Given the description of an element on the screen output the (x, y) to click on. 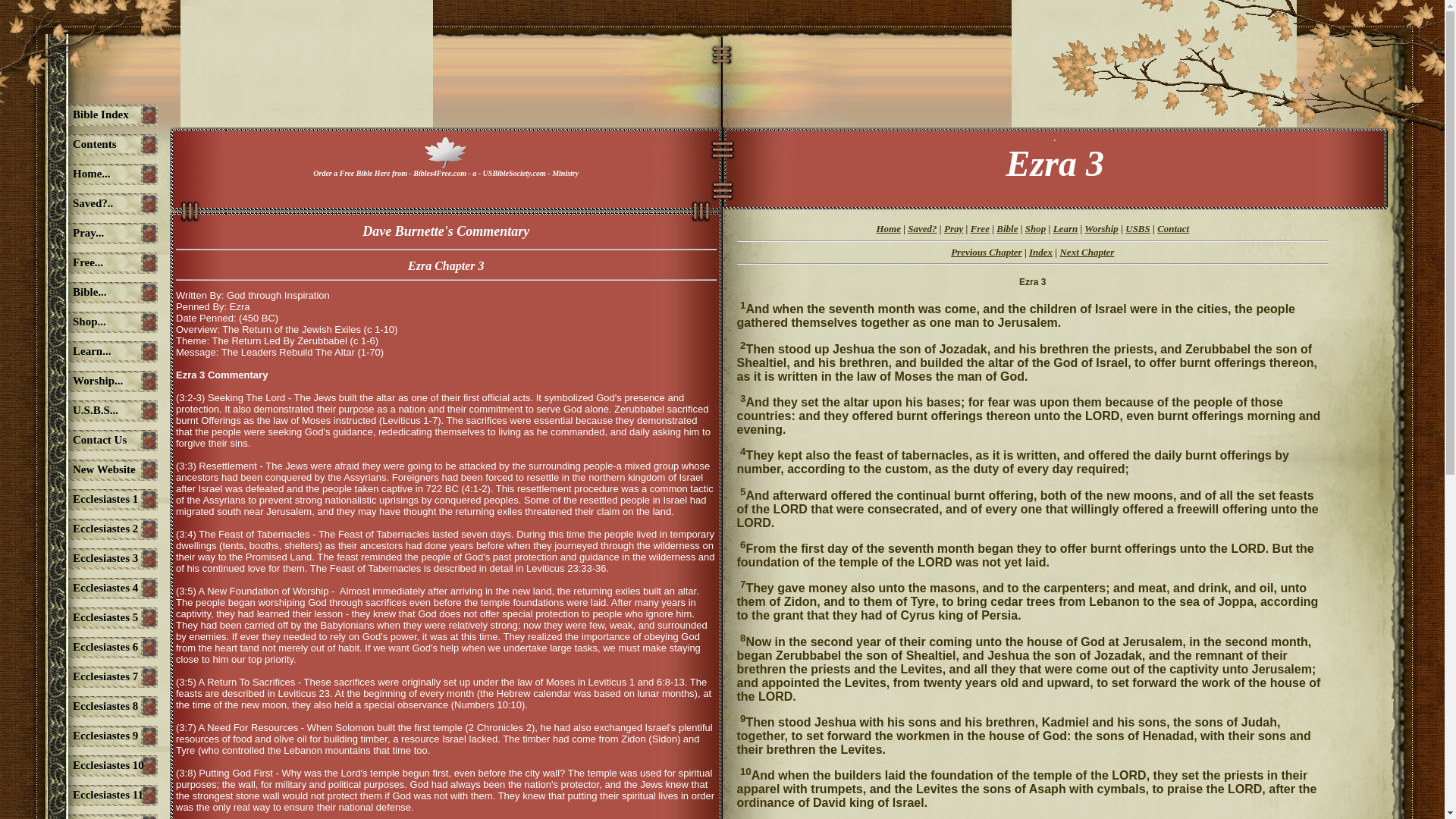
Ecclesiastes 2 (82, 528)
New Website (82, 469)
Bible (1006, 228)
Shop (1035, 228)
Saved? (921, 228)
Worship... (82, 380)
Home (888, 228)
Ecclesiastes 11 (82, 794)
Ecclesiastes 12 (82, 814)
Ecclesiastes 10 (82, 765)
